Given the description of an element on the screen output the (x, y) to click on. 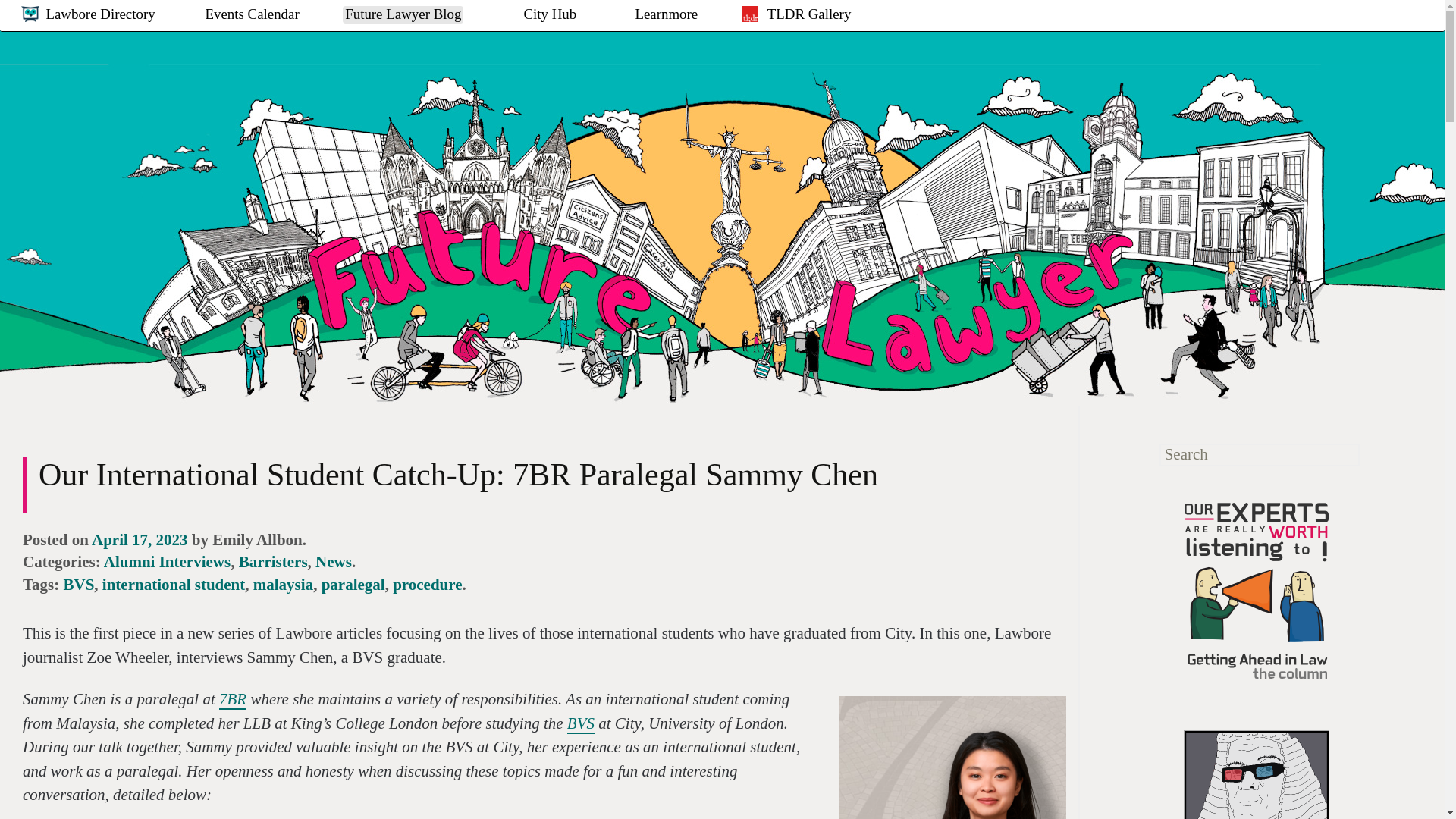
BVS (79, 584)
Alumni Interviews (166, 561)
Lawbore Directory (92, 33)
City Hub (550, 33)
Movie Makers Lessons in Law (1256, 774)
BVS (580, 723)
News (333, 561)
7BR (232, 700)
Events Calendar (243, 33)
Future Lawyer Blog (395, 33)
